Given the description of an element on the screen output the (x, y) to click on. 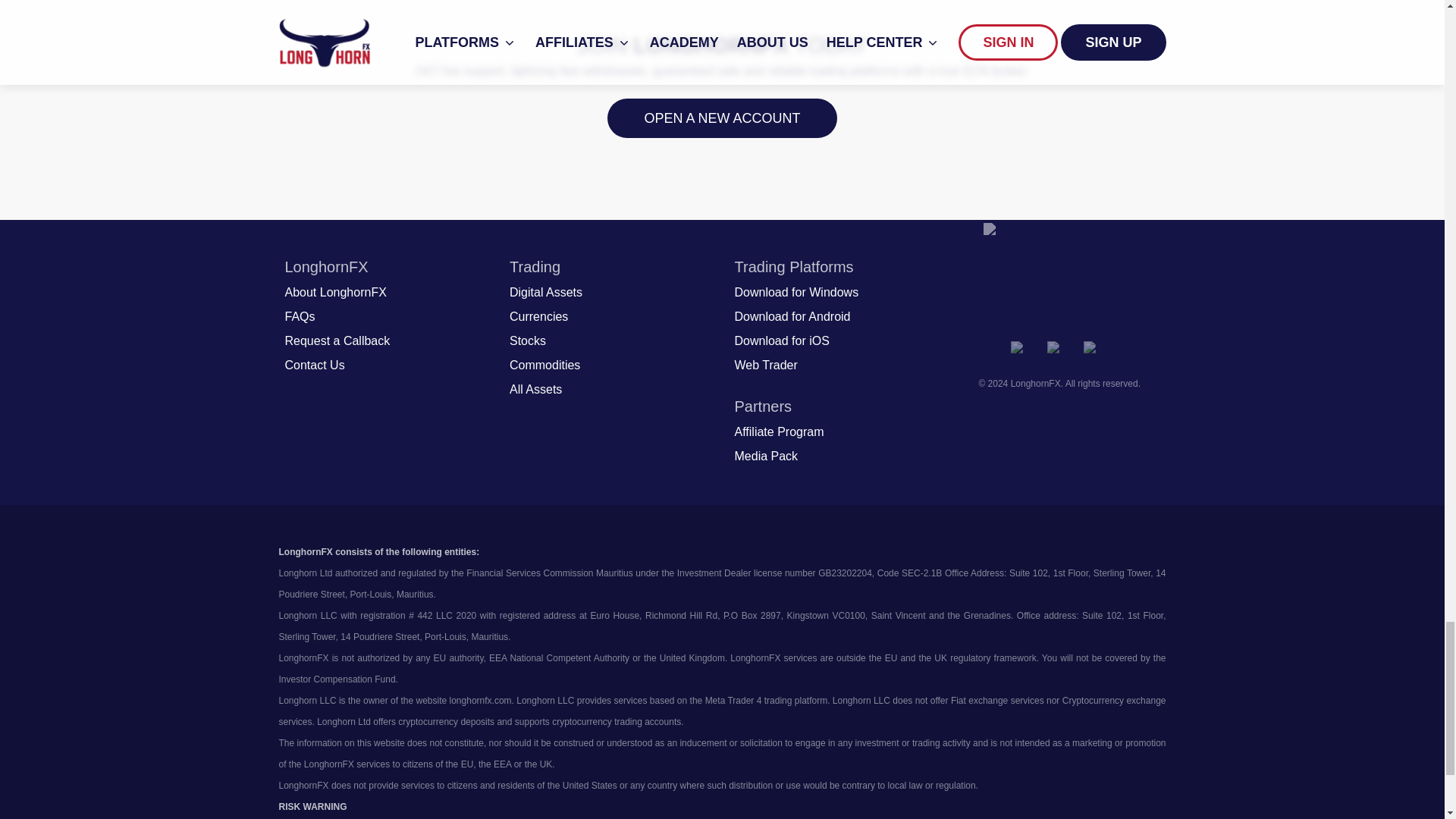
Web Trader (764, 365)
Digital Assets (545, 292)
Contact Us (315, 365)
Media Pack (765, 456)
About LonghornFX (336, 292)
Commodities (544, 365)
Download for Android (791, 316)
All Assets (535, 389)
OPEN A NEW ACCOUNT (721, 118)
Affiliate Program (778, 432)
